Given the description of an element on the screen output the (x, y) to click on. 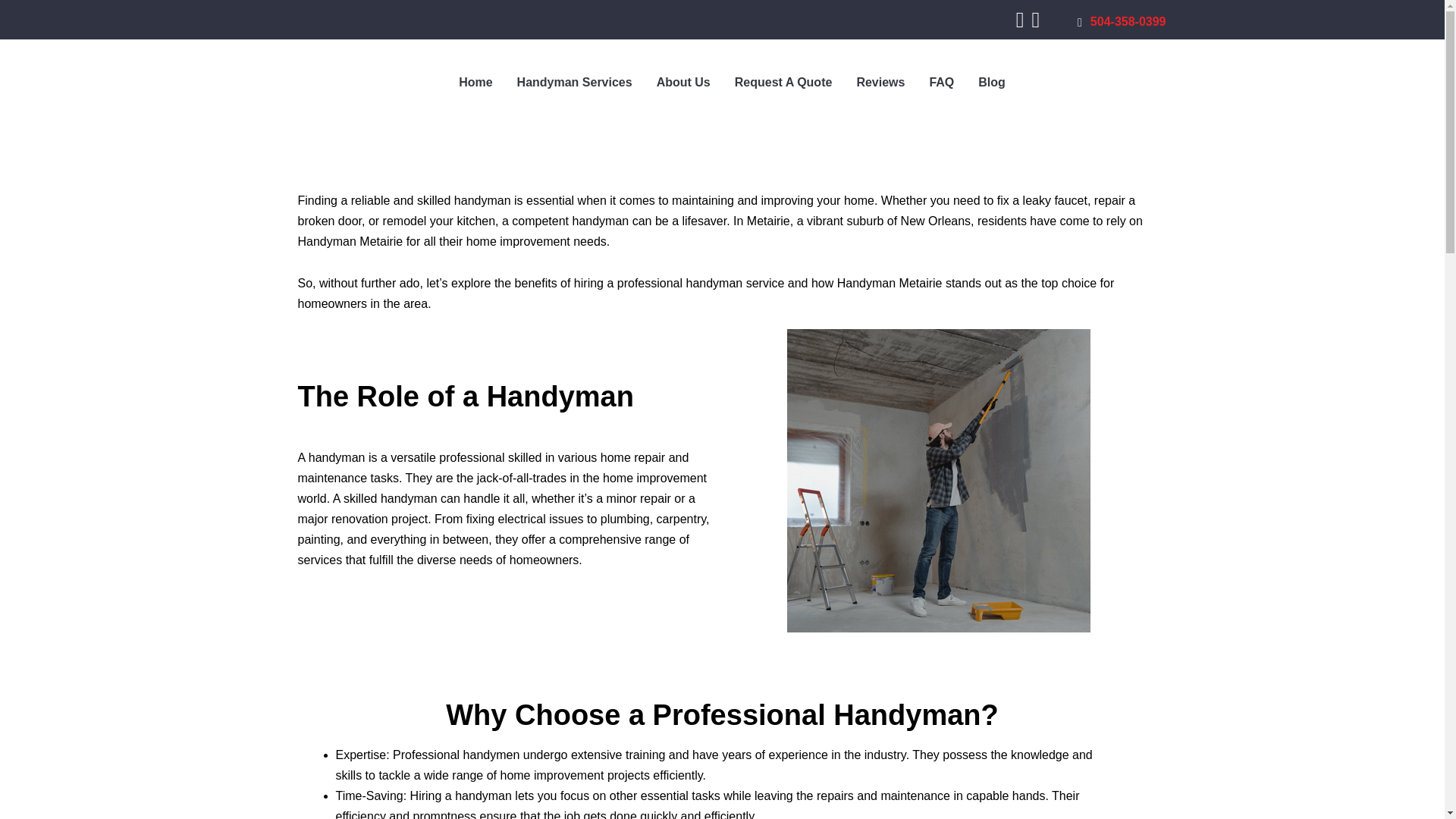
Home (474, 82)
FAQ (941, 82)
Blog (991, 82)
About Us (683, 82)
Handyman Services (575, 82)
Reviews (880, 82)
Request A Quote (783, 82)
504-358-0399 (1121, 21)
